Given the description of an element on the screen output the (x, y) to click on. 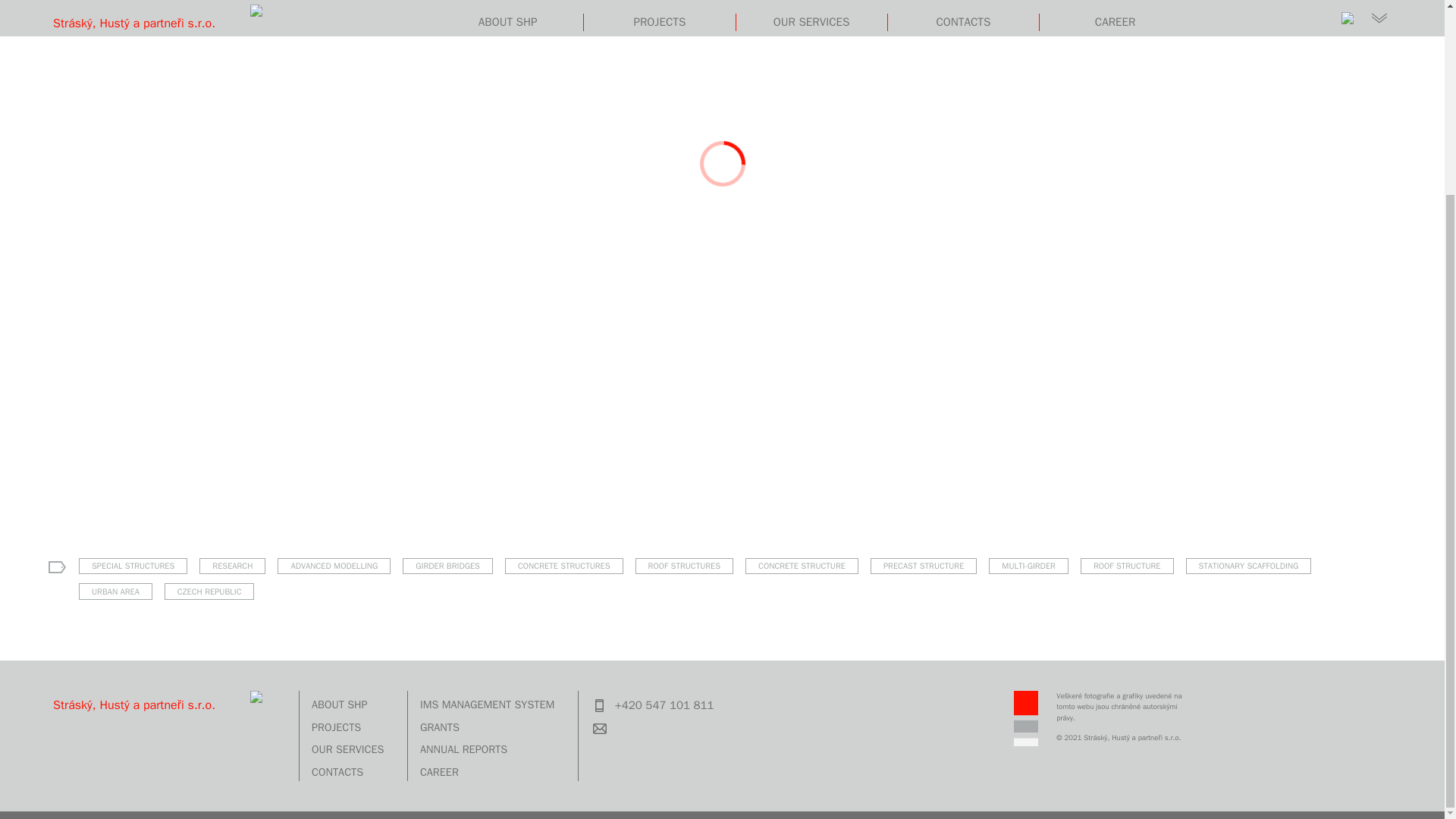
OUR SERVICES (350, 753)
URBAN AREA (115, 591)
RESEARCH (231, 565)
PRECAST STRUCTURE (923, 565)
SPECIAL STRUCTURES (132, 565)
PROJECTS (350, 730)
GIRDER BRIDGES (448, 565)
CONCRETE STRUCTURES (564, 565)
STATIONARY SCAFFOLDING (1248, 565)
CZECH REPUBLIC (209, 591)
